Given the description of an element on the screen output the (x, y) to click on. 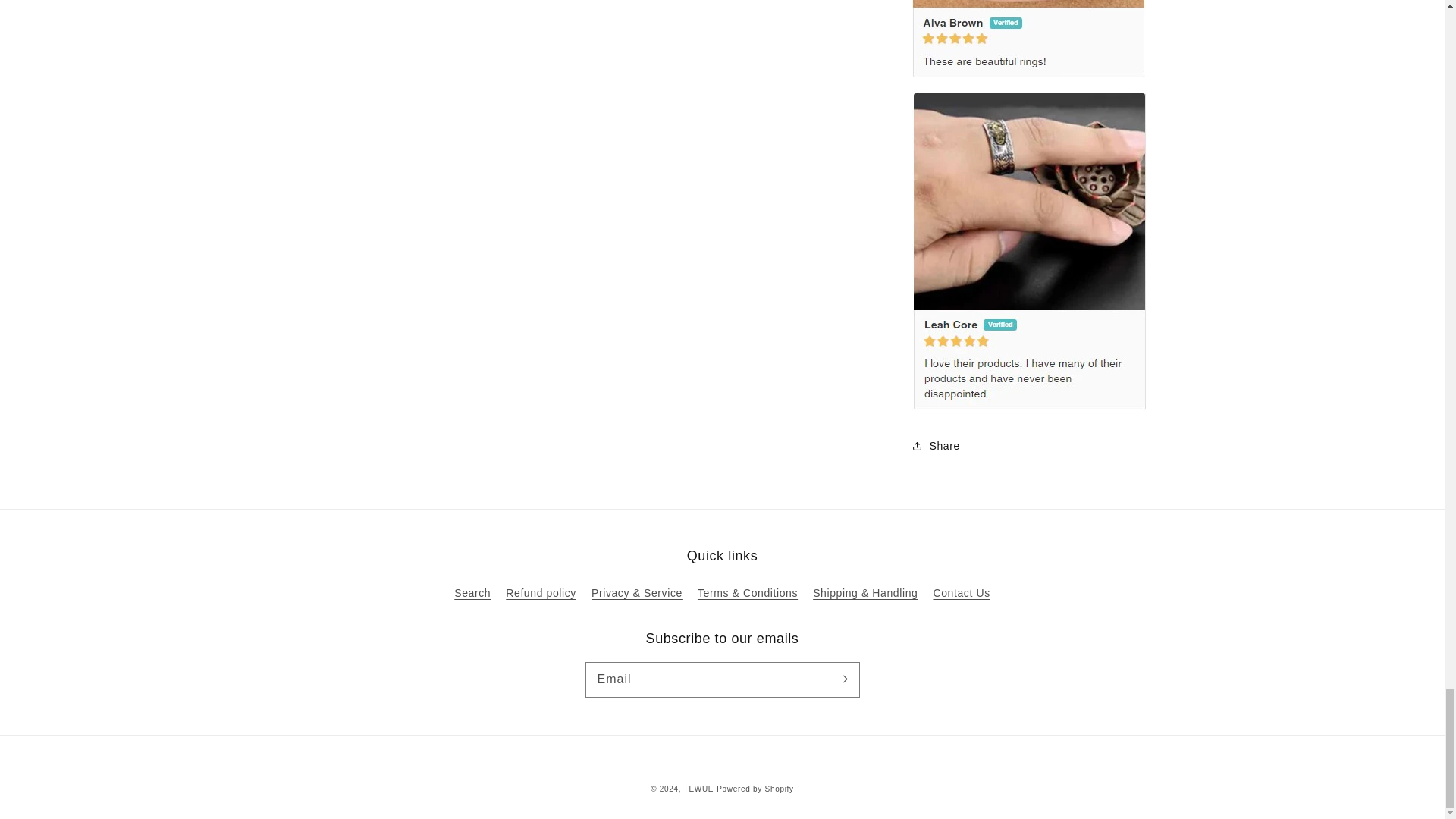
Search (472, 594)
Refund policy (540, 592)
